Given the description of an element on the screen output the (x, y) to click on. 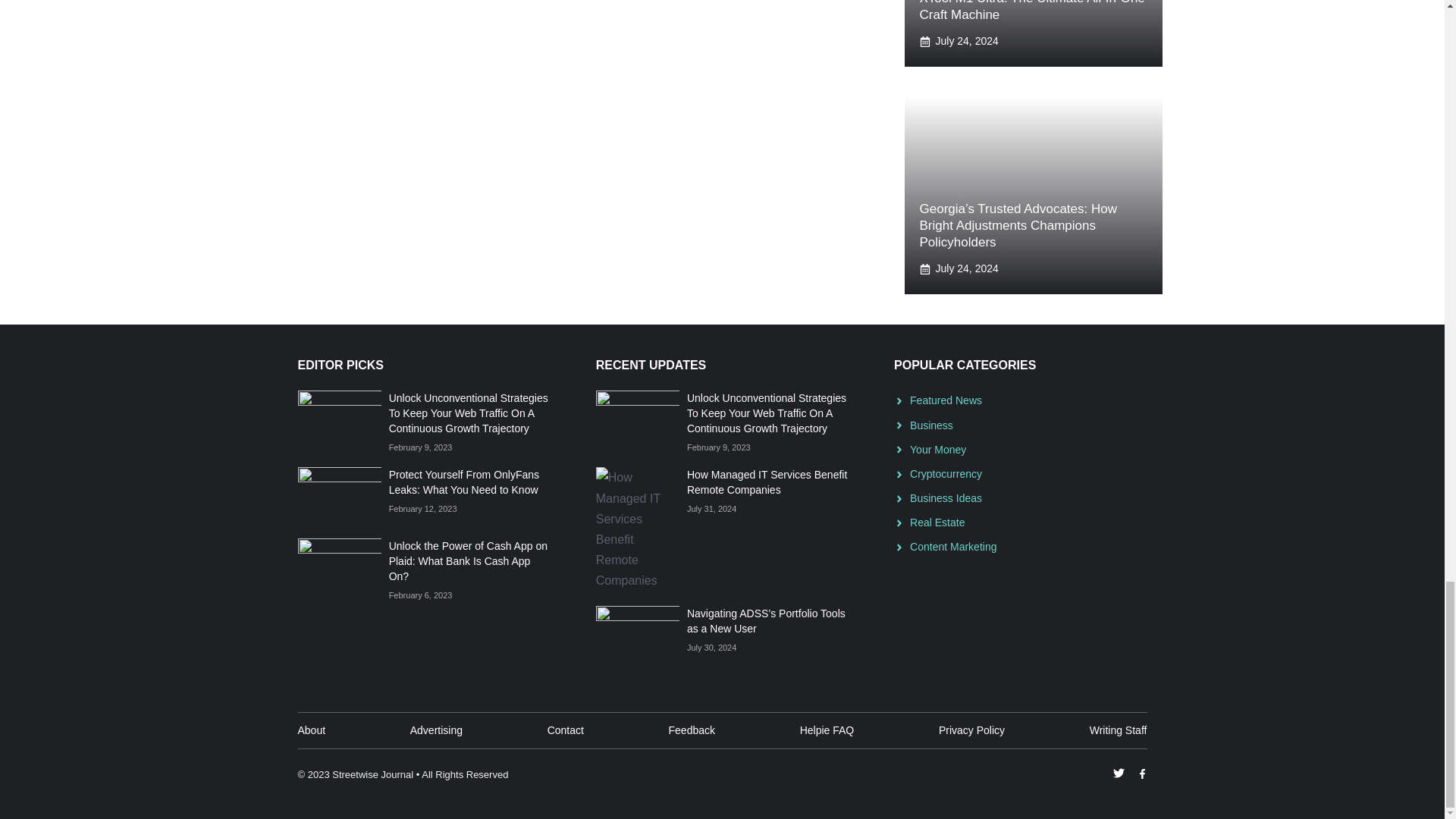
Protect Yourself From OnlyFans Leaks: What You Need to Know (463, 482)
Business (931, 425)
How Managed IT Services Benefit Remote Companies (767, 482)
Featured News (945, 399)
XTool M1 Ultra: The Ultimate All-In-One Craft Machine (1031, 11)
